Given the description of an element on the screen output the (x, y) to click on. 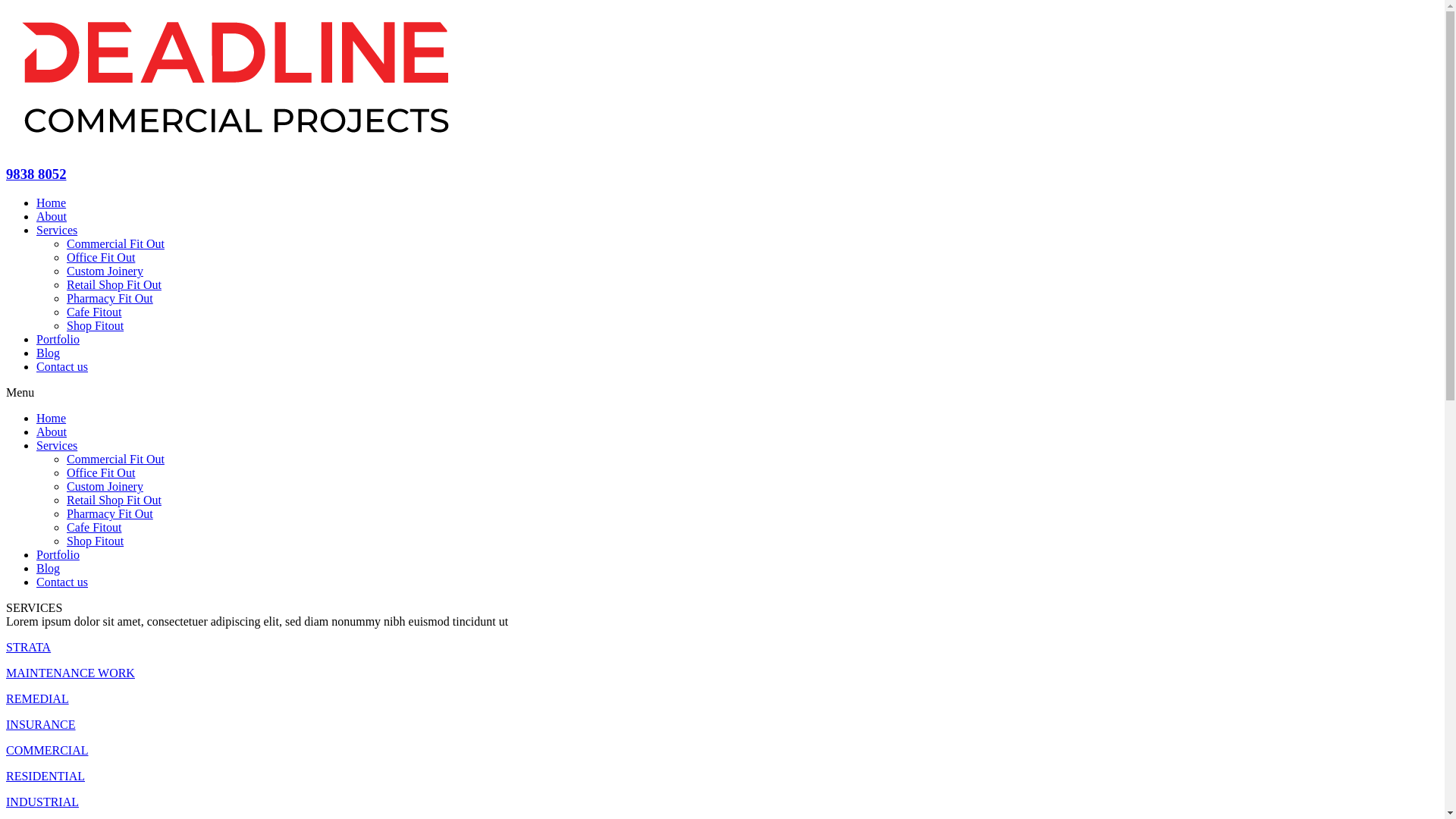
Custom Joinery Element type: text (104, 486)
Retail Shop Fit Out Element type: text (113, 284)
About Element type: text (51, 216)
Blog Element type: text (47, 567)
Cafe Fitout Element type: text (93, 311)
Commercial Fit Out Element type: text (115, 243)
INDUSTRIAL Element type: text (42, 801)
REMEDIAL Element type: text (37, 698)
Pharmacy Fit Out Element type: text (109, 297)
RESIDENTIAL Element type: text (45, 775)
INSURANCE Element type: text (40, 724)
Pharmacy Fit Out Element type: text (109, 513)
Shop Fitout Element type: text (94, 325)
Contact us Element type: text (61, 366)
Office Fit Out Element type: text (100, 472)
Portfolio Element type: text (57, 554)
Custom Joinery Element type: text (104, 270)
Home Element type: text (50, 202)
Contact us Element type: text (61, 581)
About Element type: text (51, 431)
Services Element type: text (56, 445)
STRATA Element type: text (28, 646)
Commercial Fit Out Element type: text (115, 458)
Services Element type: text (56, 229)
Shop Fitout Element type: text (94, 540)
MAINTENANCE WORK Element type: text (70, 672)
Cafe Fitout Element type: text (93, 526)
COMMERCIAL Element type: text (46, 749)
Portfolio Element type: text (57, 338)
Home Element type: text (50, 417)
Blog Element type: text (47, 352)
Retail Shop Fit Out Element type: text (113, 499)
Office Fit Out Element type: text (100, 257)
9838 8052 Element type: text (36, 174)
